Given the description of an element on the screen output the (x, y) to click on. 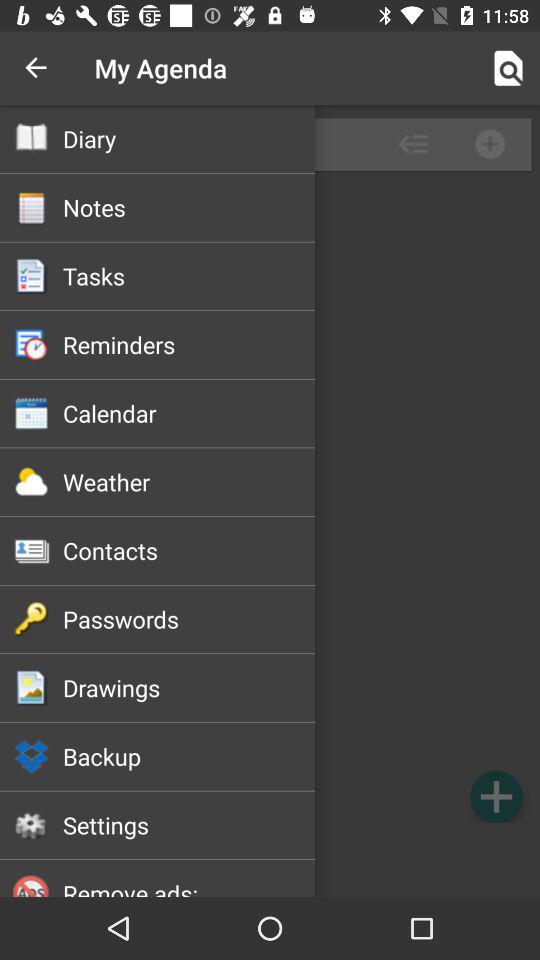
turn on icon below reminders icon (188, 413)
